Given the description of an element on the screen output the (x, y) to click on. 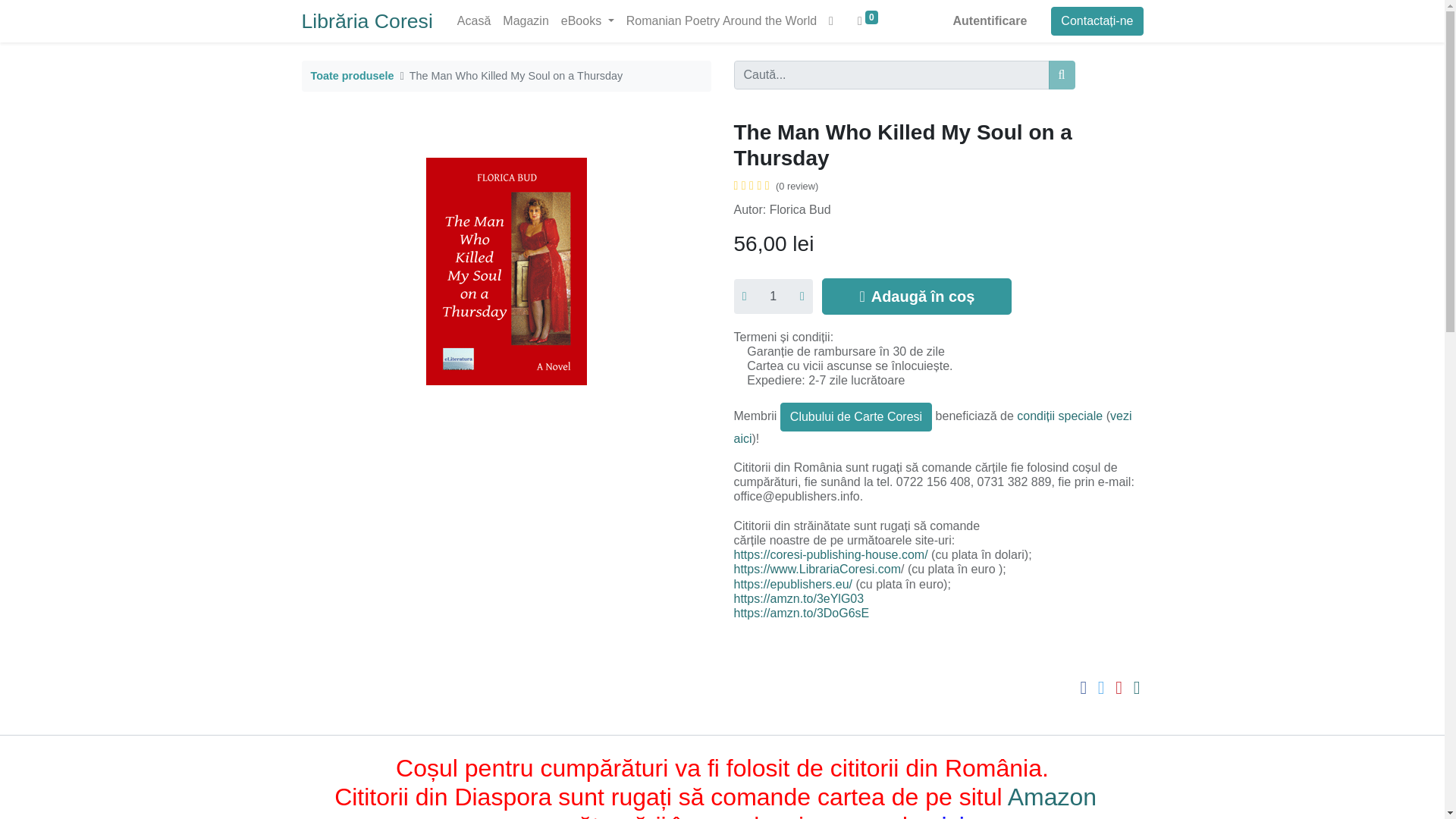
Autentificare (990, 20)
eBooks (587, 20)
1 (773, 296)
Toate produsele (352, 75)
Romanian Poetry Around the World (721, 20)
Clubului de Carte Coresi (855, 416)
vezi aici (932, 427)
Magazin (525, 20)
Amazon (1055, 796)
0 (867, 20)
